Given the description of an element on the screen output the (x, y) to click on. 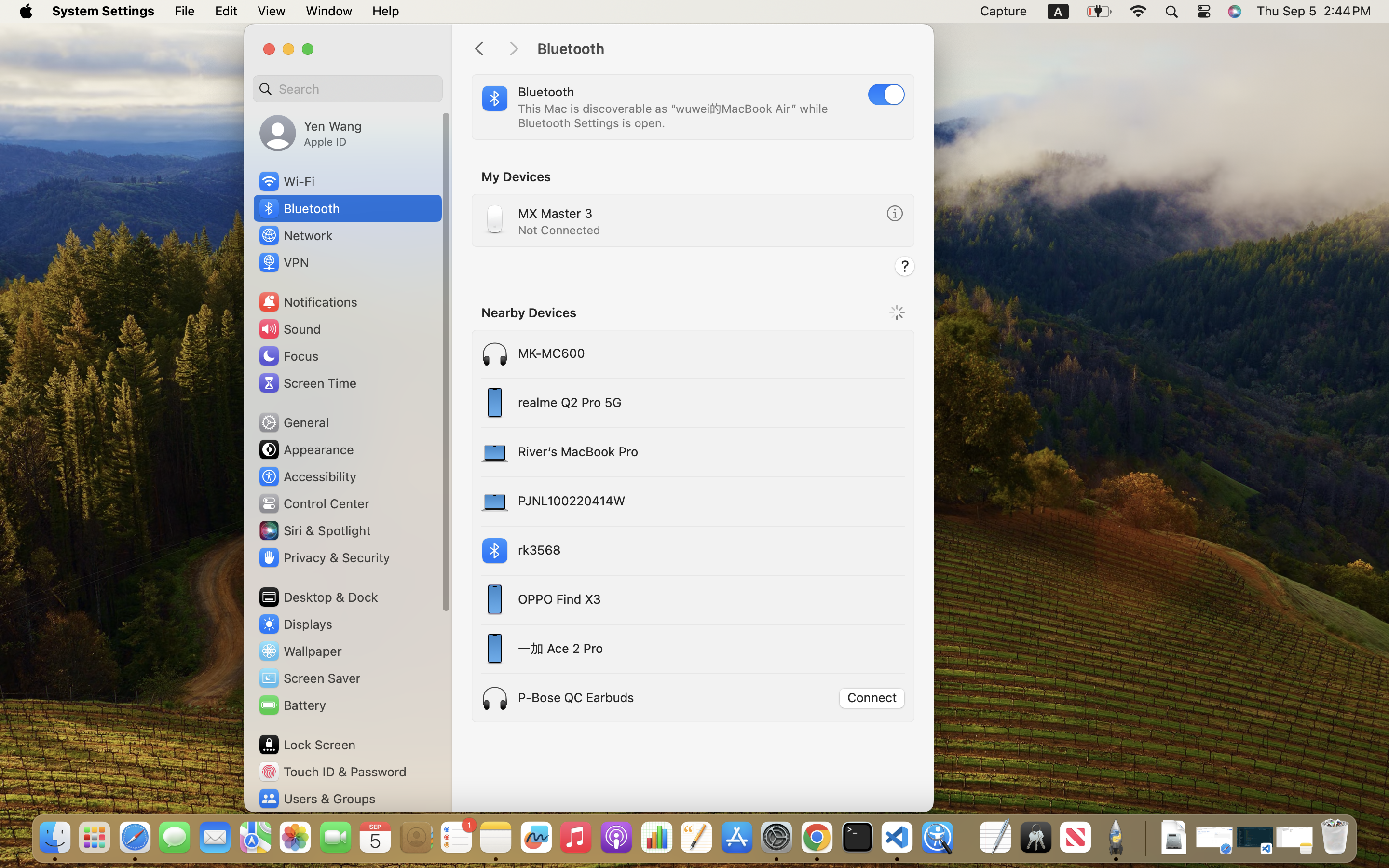
Yen Wang, Apple ID Element type: AXStaticText (310, 132)
OPPO Find X3 Element type: AXStaticText (655, 599)
Siri & Spotlight Element type: AXStaticText (313, 530)
Users & Groups Element type: AXStaticText (316, 798)
General Element type: AXStaticText (292, 422)
